Given the description of an element on the screen output the (x, y) to click on. 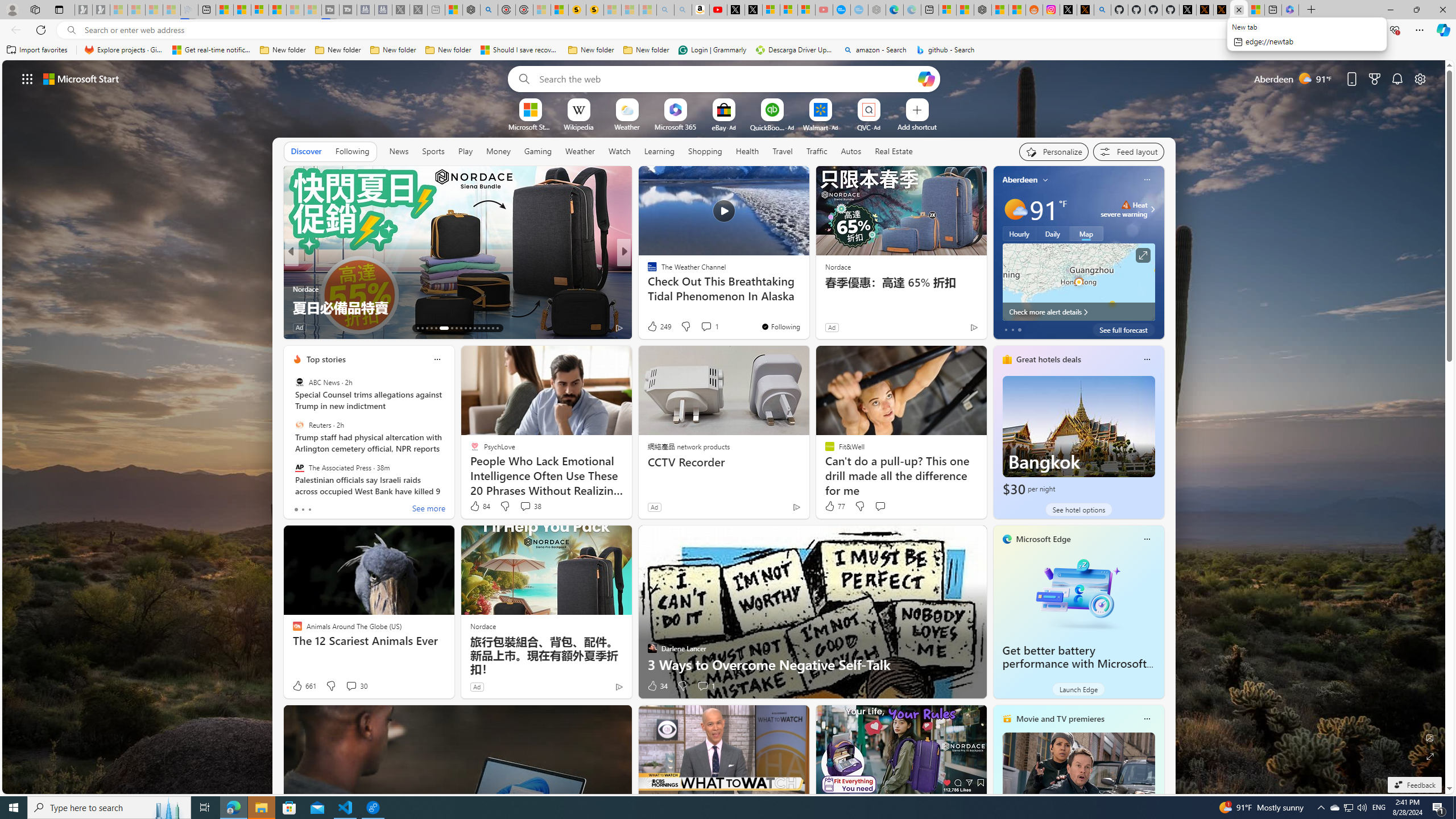
Traffic (816, 151)
Sports (432, 151)
More options (1146, 718)
Search icon (70, 29)
Personal Profile (12, 9)
Verywell Mind (647, 288)
Add a site (916, 126)
AutomationID: tab-21 (460, 328)
ABC News (299, 382)
Money (498, 151)
Hourly (1018, 233)
